Given the description of an element on the screen output the (x, y) to click on. 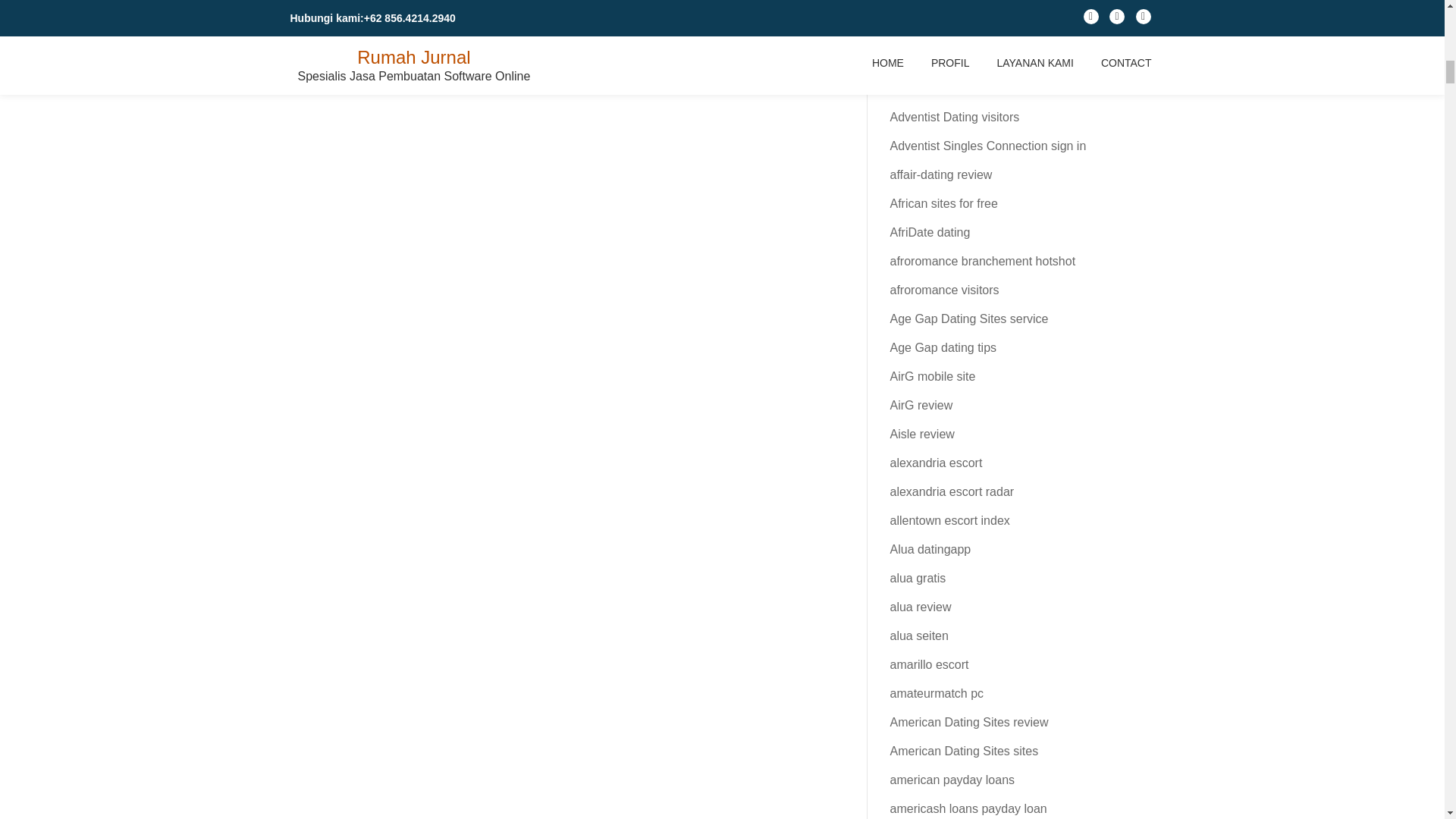
Kirim Komentar (452, 12)
Kirim Komentar (452, 12)
